Given the description of an element on the screen output the (x, y) to click on. 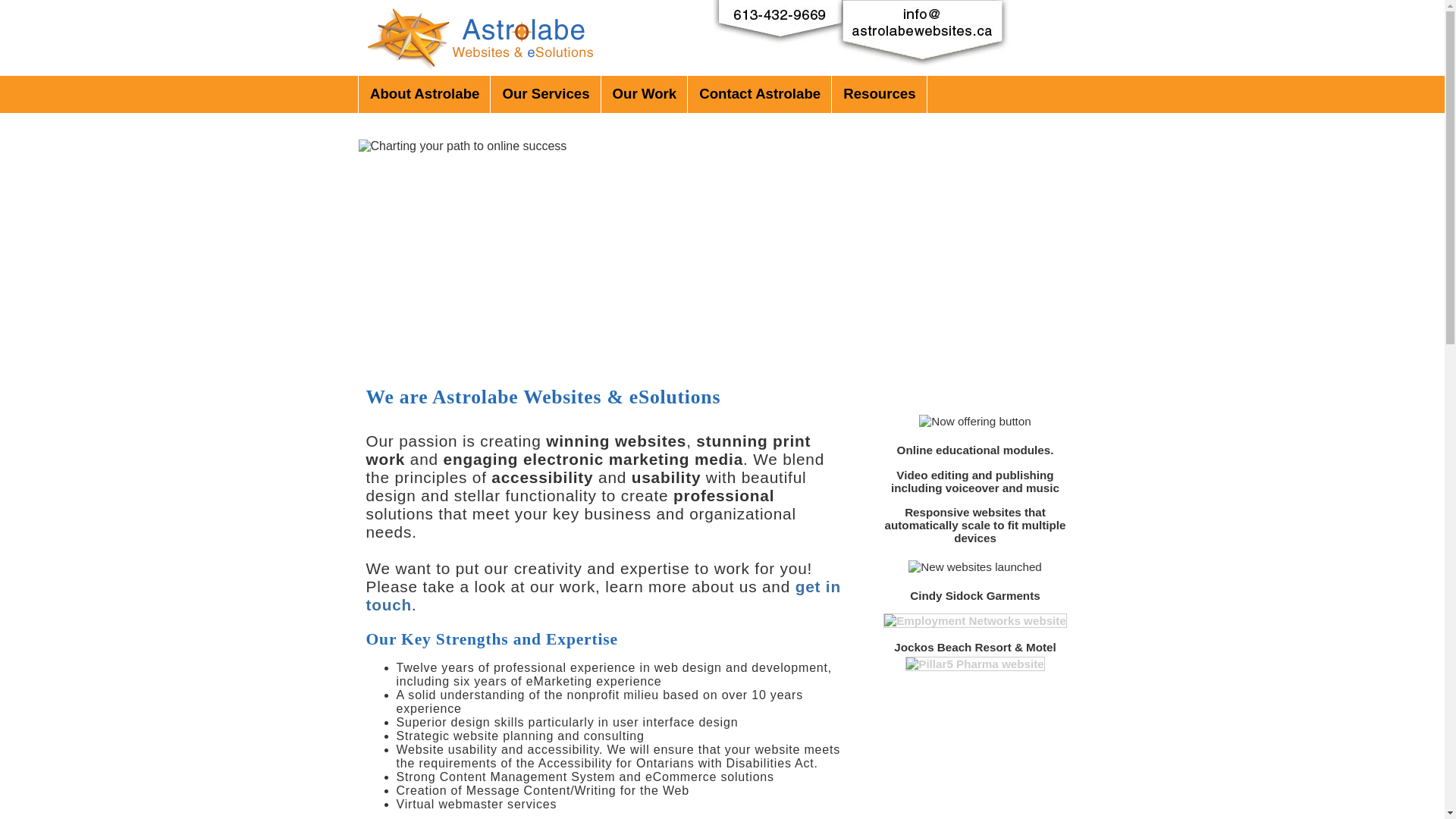
Our Services Element type: text (544, 93)
Our Work Element type: text (644, 93)
About Astrolabe Element type: text (423, 93)
Contact Astrolabe Element type: text (759, 93)
Telephone number and email address Element type: hover (835, 37)
Resources Element type: text (878, 93)
get in touch Element type: text (602, 595)
